Given the description of an element on the screen output the (x, y) to click on. 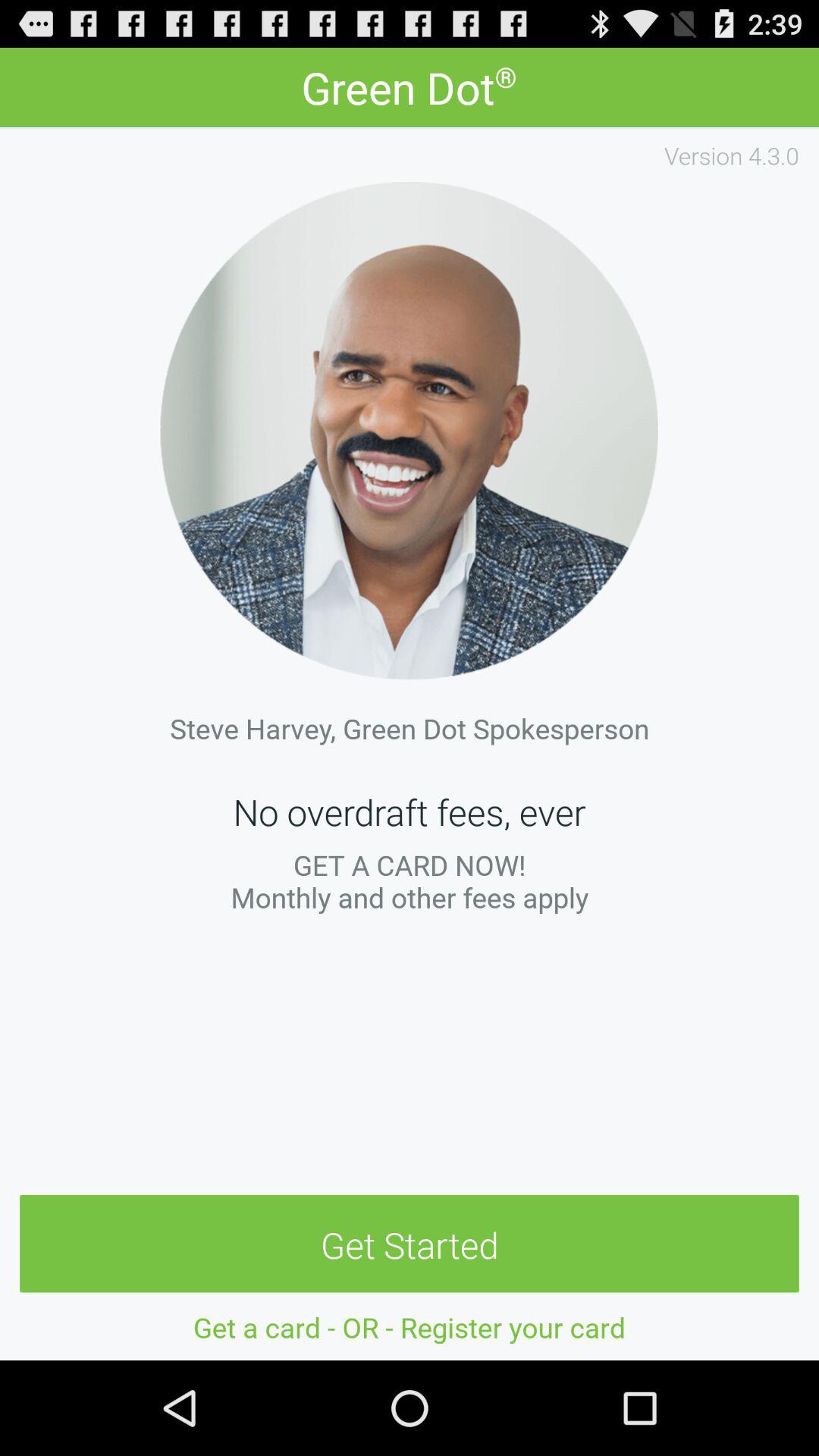
jump to get started item (409, 1244)
